Given the description of an element on the screen output the (x, y) to click on. 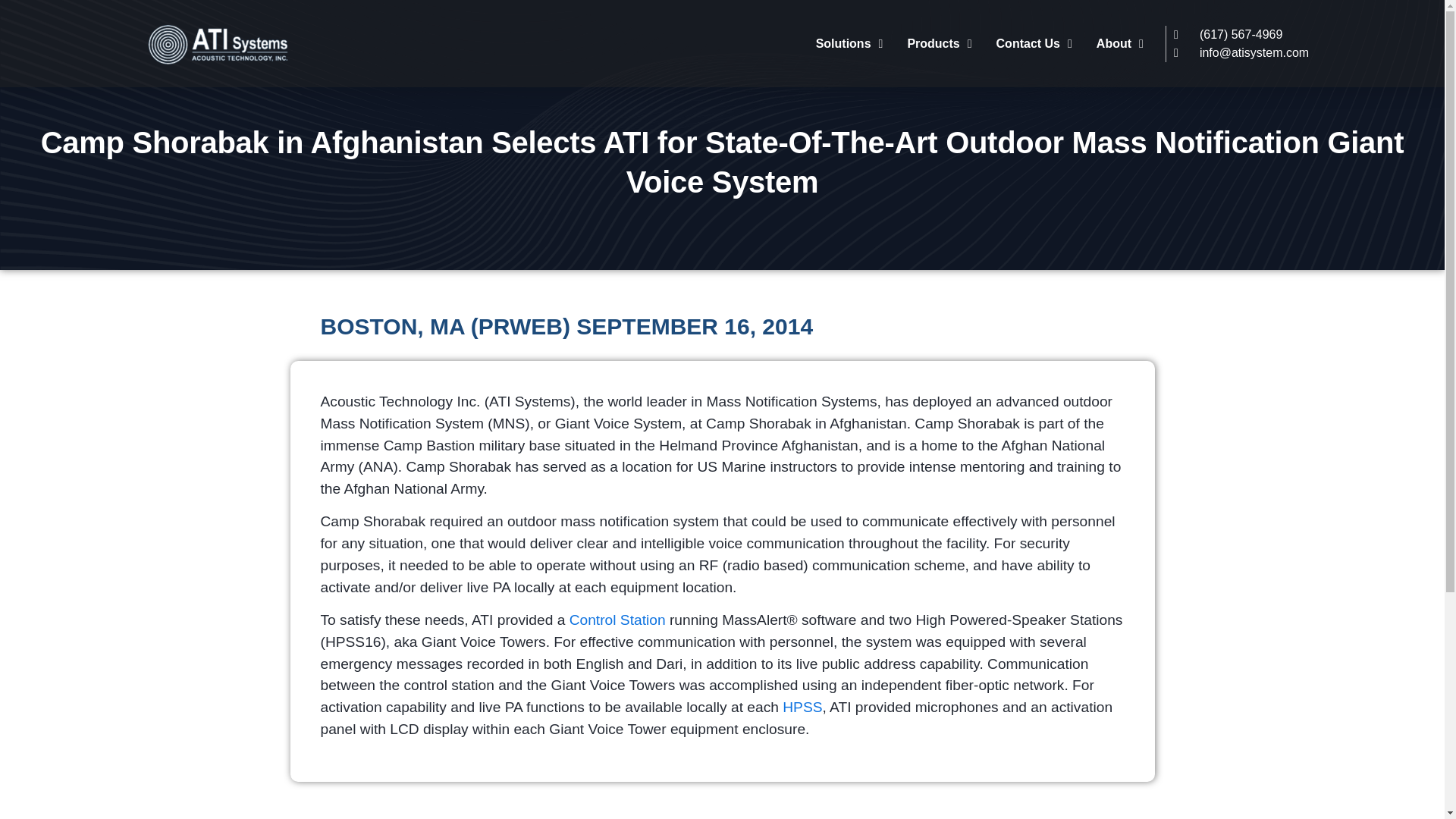
Contact Us (1034, 42)
Products (939, 42)
Solutions (849, 42)
About (1120, 42)
